Given the description of an element on the screen output the (x, y) to click on. 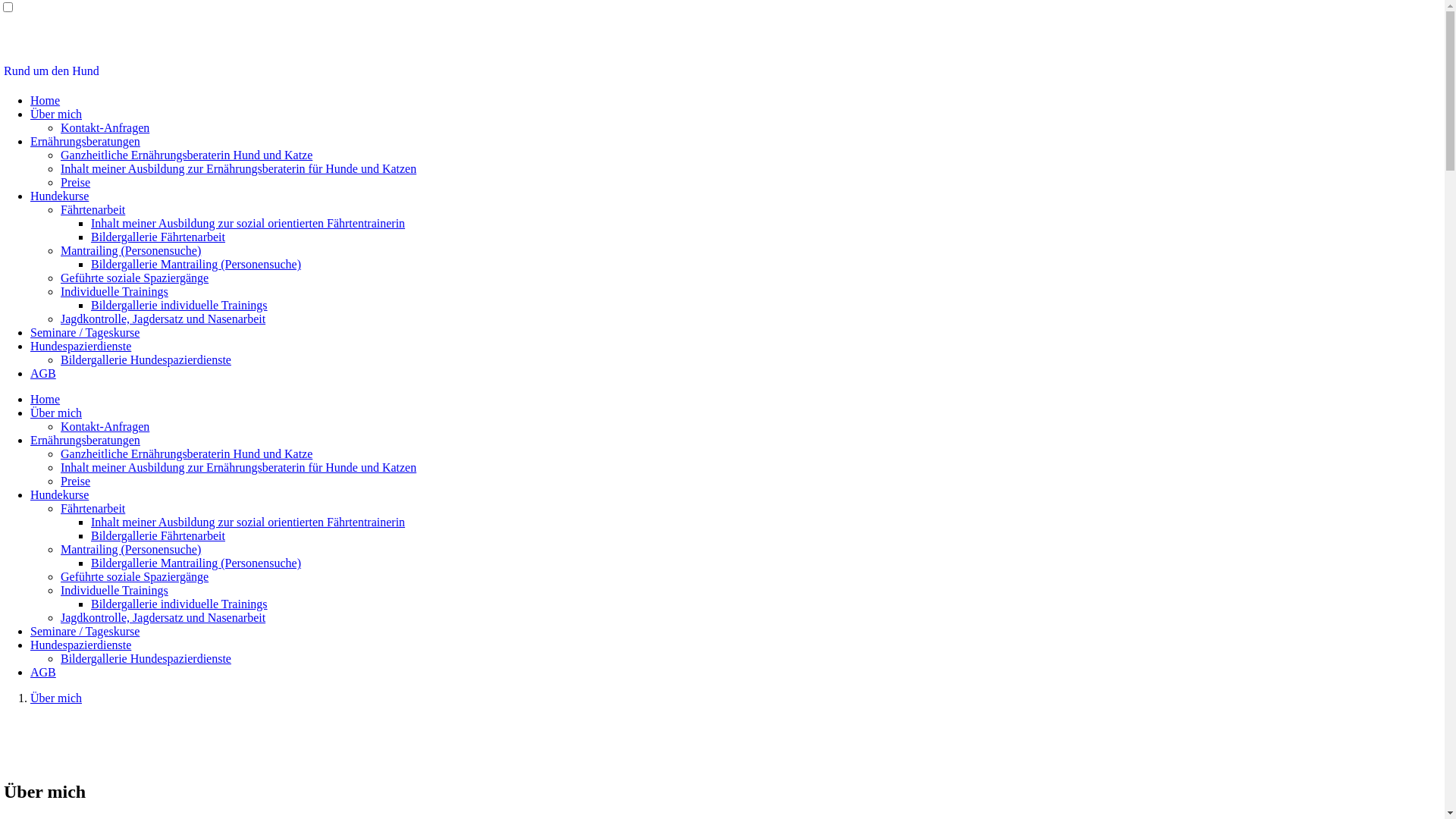
Mantrailing (Personensuche) Element type: text (130, 250)
Hundespazierdienste Element type: text (80, 345)
Bildergallerie Hundespazierdienste Element type: text (145, 359)
AGB Element type: text (43, 671)
Kontakt-Anfragen Element type: text (104, 426)
Bildergallerie Mantrailing (Personensuche) Element type: text (196, 562)
Home Element type: text (44, 398)
Individuelle Trainings Element type: text (114, 291)
Hundespazierdienste Element type: text (80, 644)
Seminare / Tageskurse Element type: text (84, 332)
Bildergallerie individuelle Trainings Element type: text (179, 603)
Seminare / Tageskurse Element type: text (84, 630)
Home Element type: text (44, 100)
Hundekurse Element type: text (59, 195)
AGB Element type: text (43, 373)
Bildergallerie individuelle Trainings Element type: text (179, 304)
Kontakt-Anfragen Element type: text (104, 127)
Preise Element type: text (75, 181)
Bildergallerie Mantrailing (Personensuche) Element type: text (196, 263)
Bildergallerie Hundespazierdienste Element type: text (145, 658)
Individuelle Trainings Element type: text (114, 589)
Preise Element type: text (75, 480)
Hundekurse Element type: text (59, 494)
Jagdkontrolle, Jagdersatz und Nasenarbeit Element type: text (162, 617)
Rund um den Hund Element type: text (51, 70)
Jagdkontrolle, Jagdersatz und Nasenarbeit Element type: text (162, 318)
Mantrailing (Personensuche) Element type: text (130, 548)
